Given the description of an element on the screen output the (x, y) to click on. 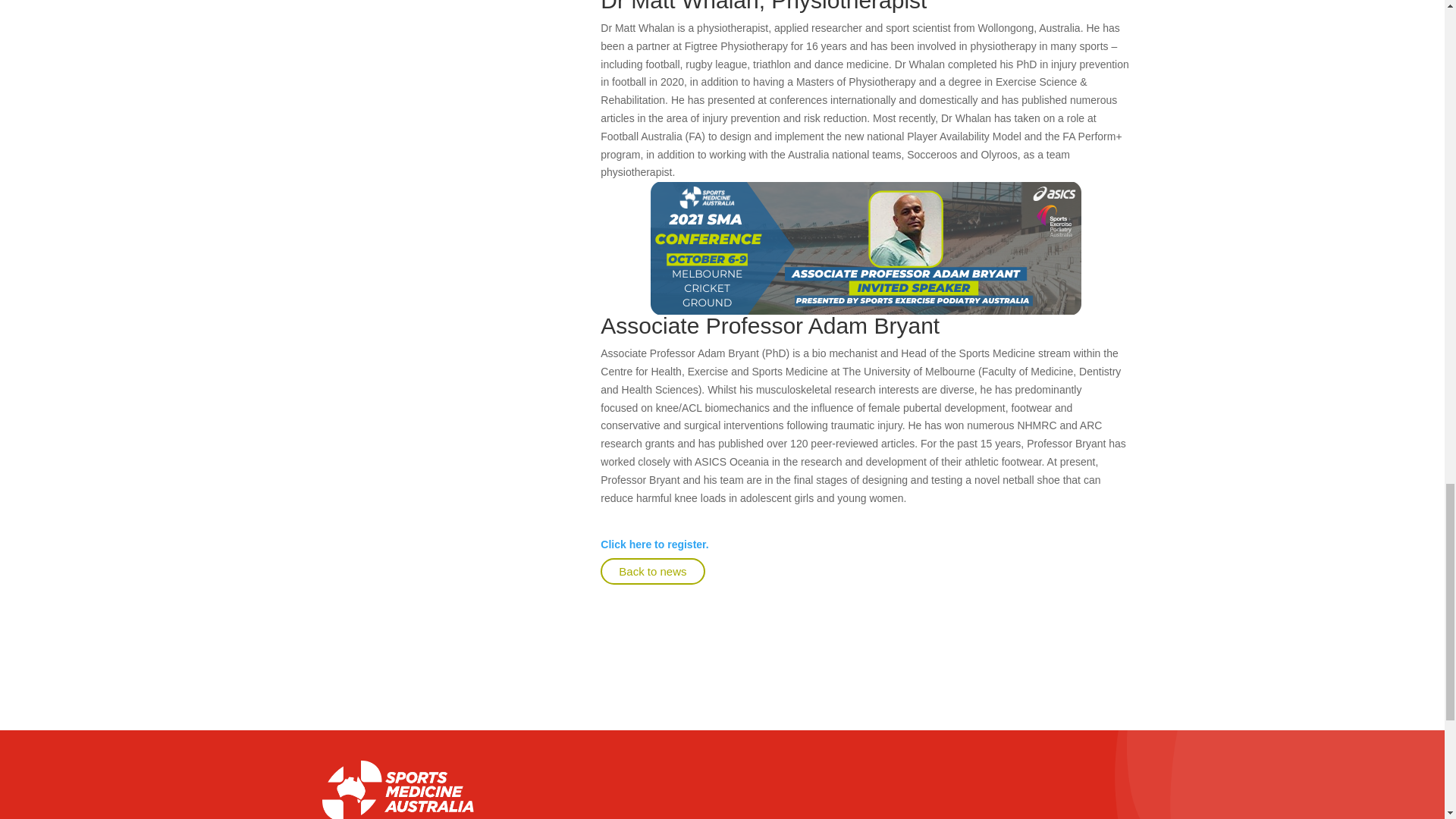
Sports Medicine Australia Logo (397, 789)
